Given the description of an element on the screen output the (x, y) to click on. 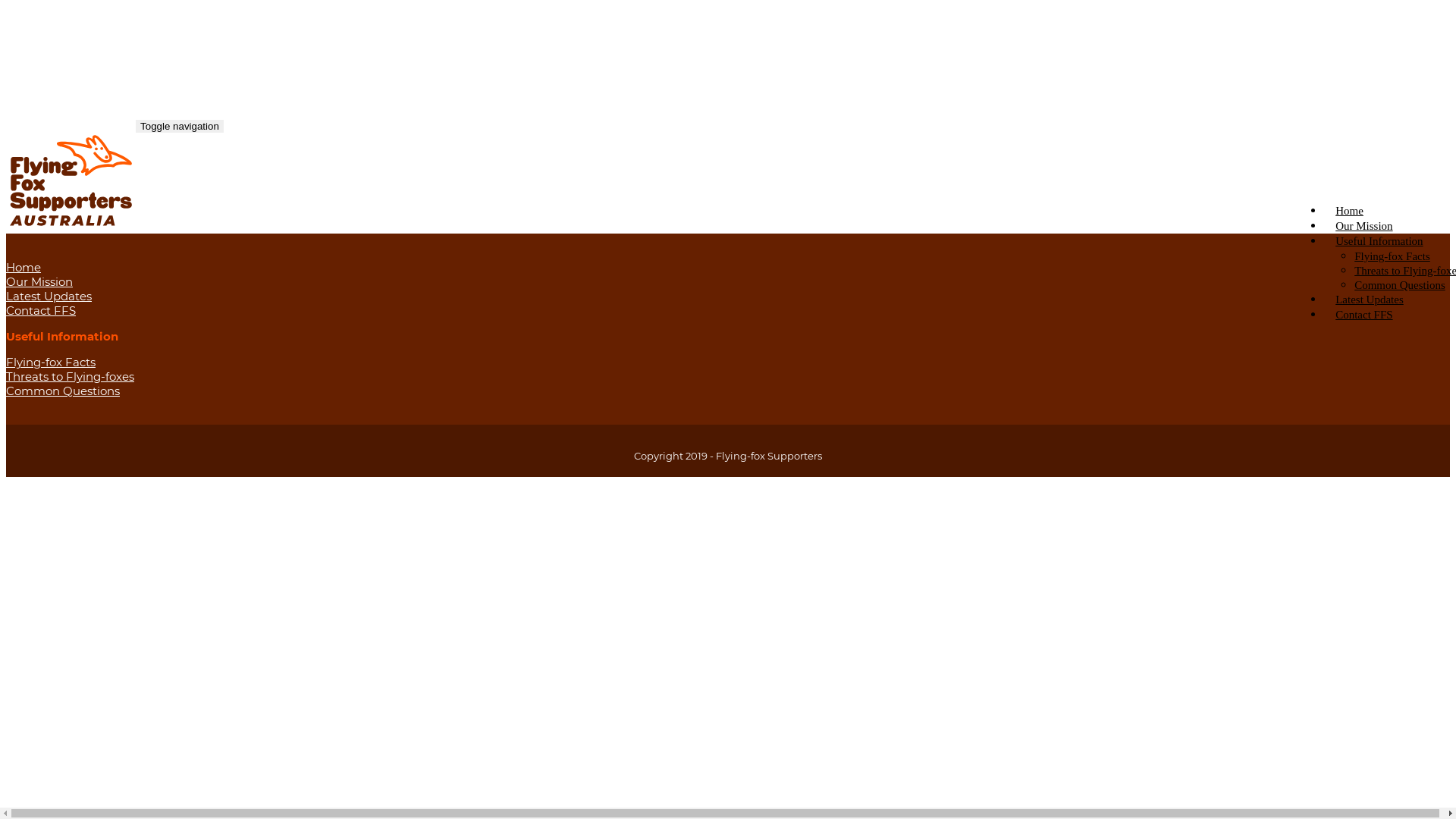
Common Questions Element type: text (1399, 285)
Flying-fox Facts Element type: text (1392, 256)
Latest Updates Element type: text (1369, 299)
Latest Updates Element type: text (48, 295)
Contact FFS Element type: text (40, 310)
Home Element type: text (23, 267)
Useful Information Element type: text (1379, 240)
Contact FFS Element type: text (1363, 314)
Threats to Flying-foxes Element type: text (70, 376)
Our Mission Element type: text (1363, 225)
Common Questions Element type: text (62, 390)
Flying-fox Facts Element type: text (50, 361)
Toggle navigation Element type: text (179, 125)
Home Element type: text (1349, 210)
Our Mission Element type: text (39, 281)
